Given the description of an element on the screen output the (x, y) to click on. 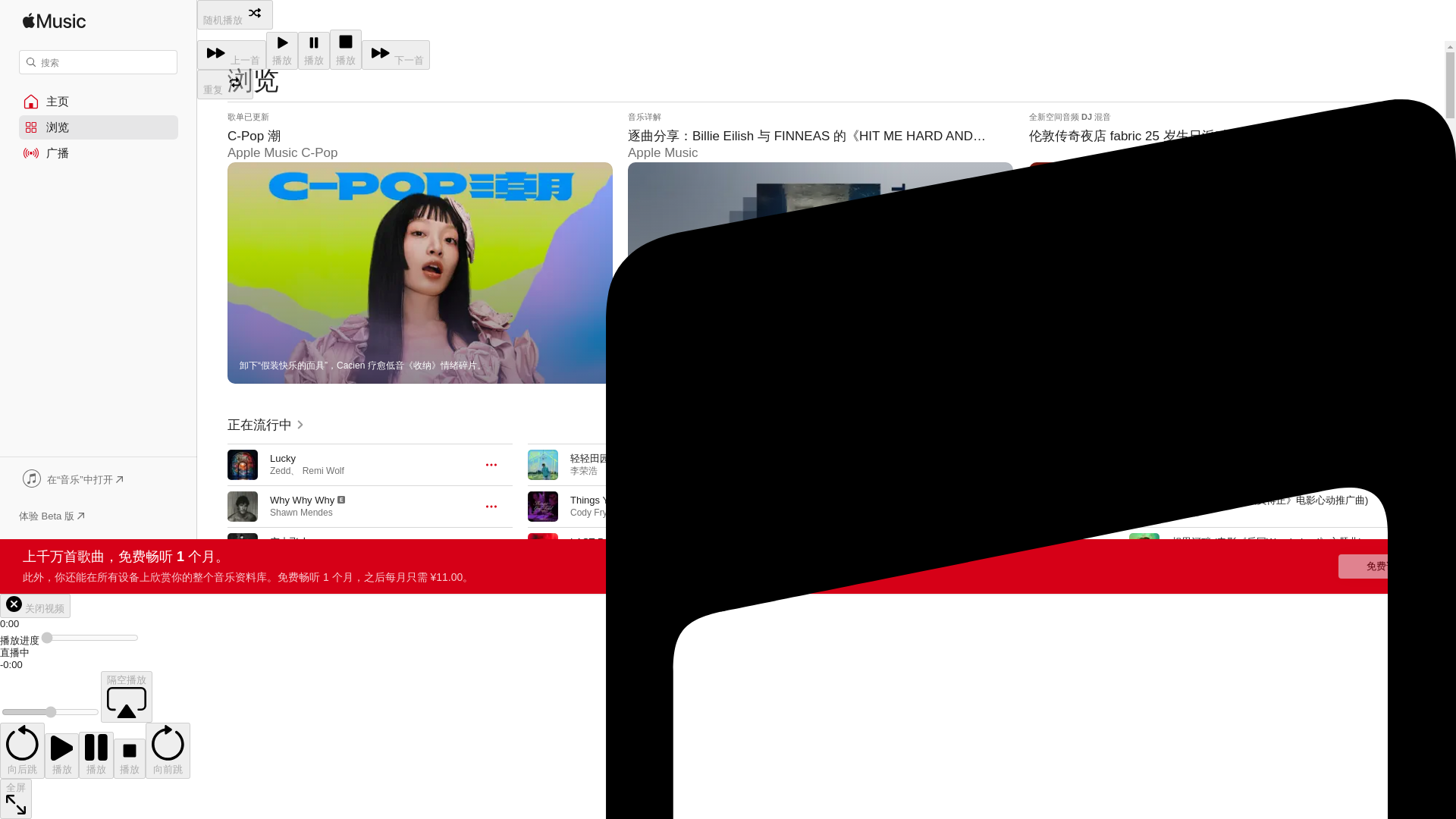
Cry Baby (289, 583)
Clean Bandit (295, 595)
Remi Wolf (322, 470)
Zedd (279, 470)
Shawn Mendes (301, 511)
Lucky (282, 458)
Why Why Why (301, 500)
